Given the description of an element on the screen output the (x, y) to click on. 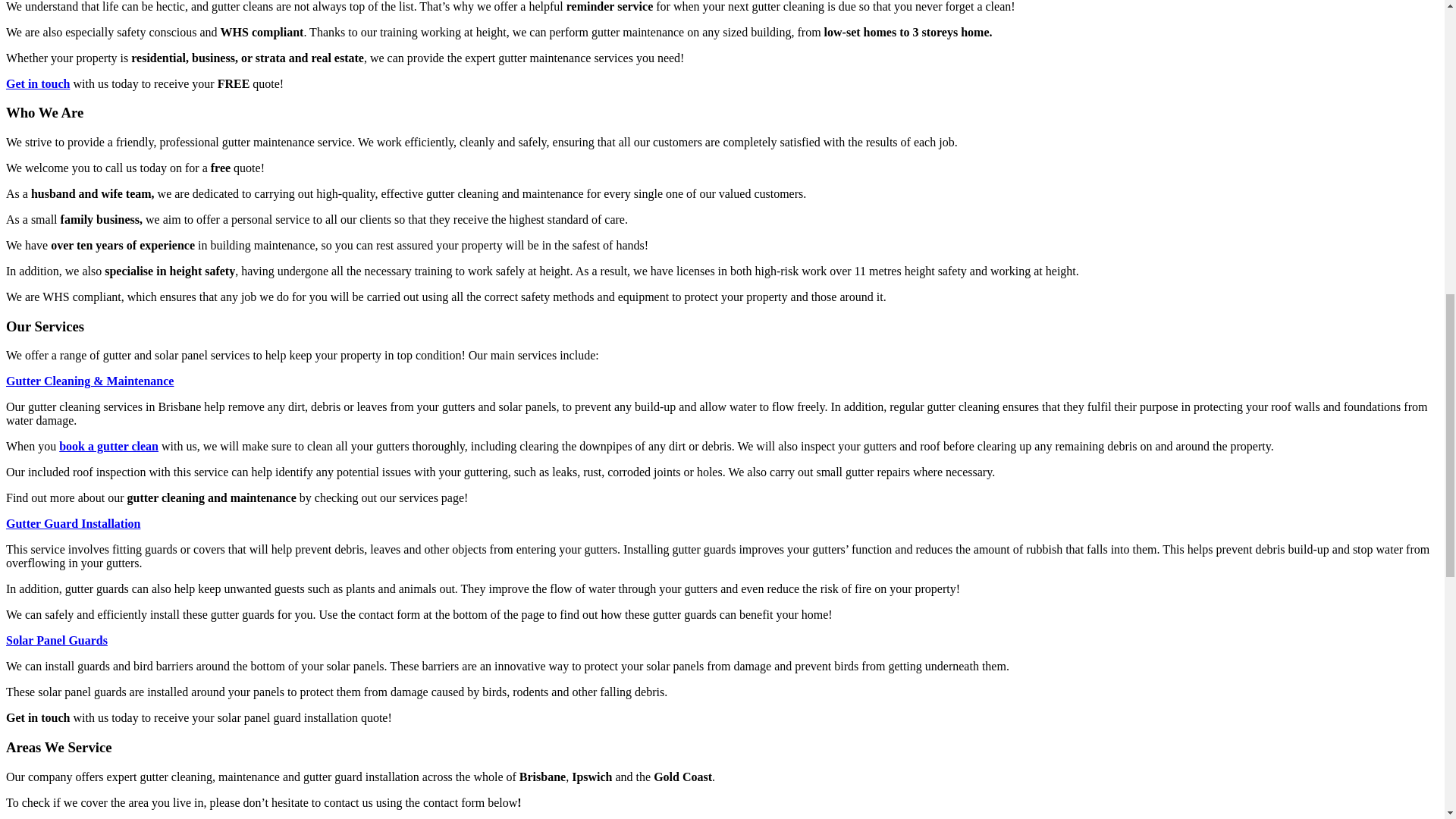
Get in touch (37, 83)
book a gutter clean (108, 445)
Solar Panel Guards (56, 640)
Gutter Guard Installation (73, 522)
Contact Us  (108, 445)
Contact Us  (37, 83)
